Given the description of an element on the screen output the (x, y) to click on. 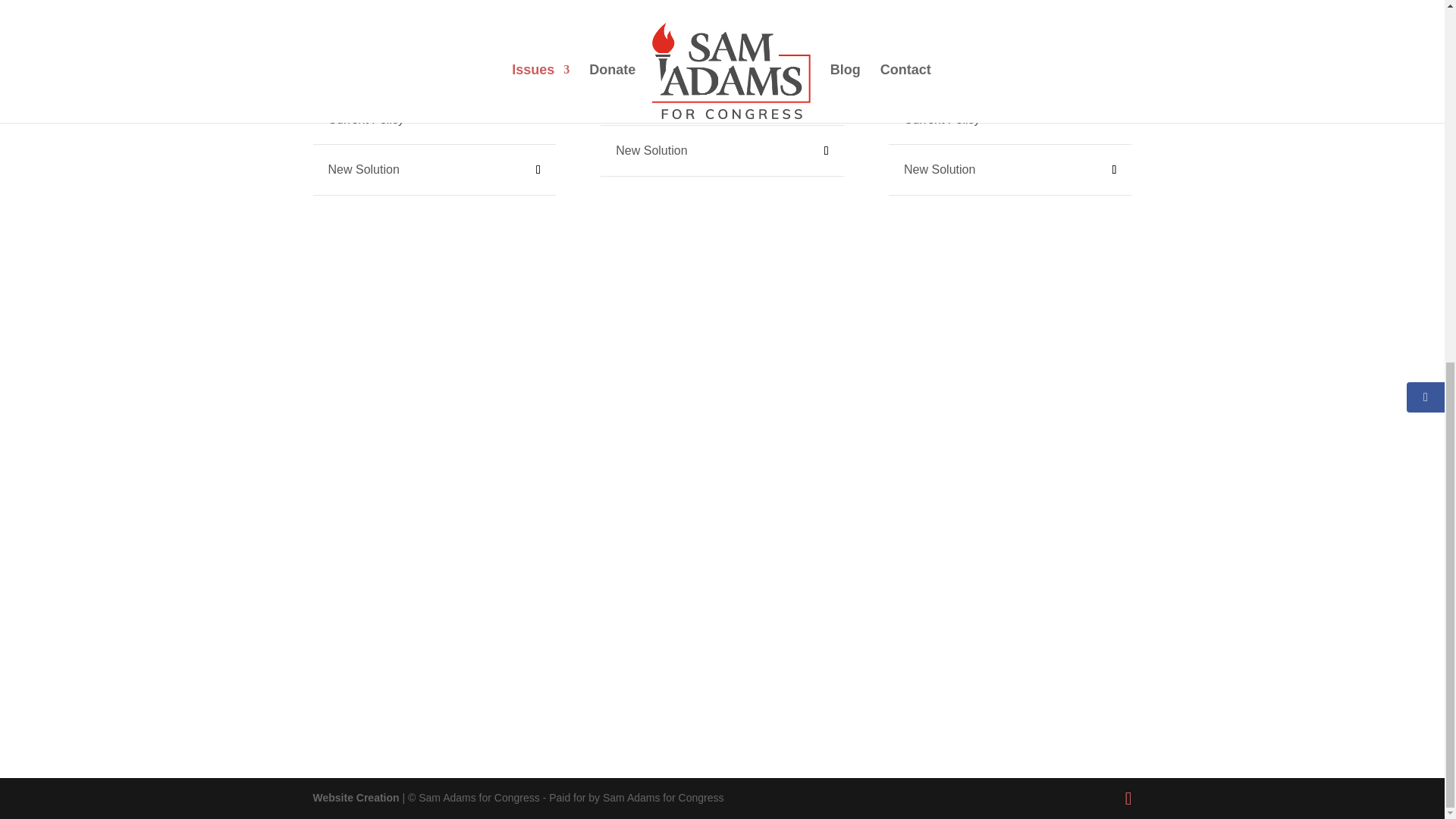
Website Creation (357, 797)
